Given the description of an element on the screen output the (x, y) to click on. 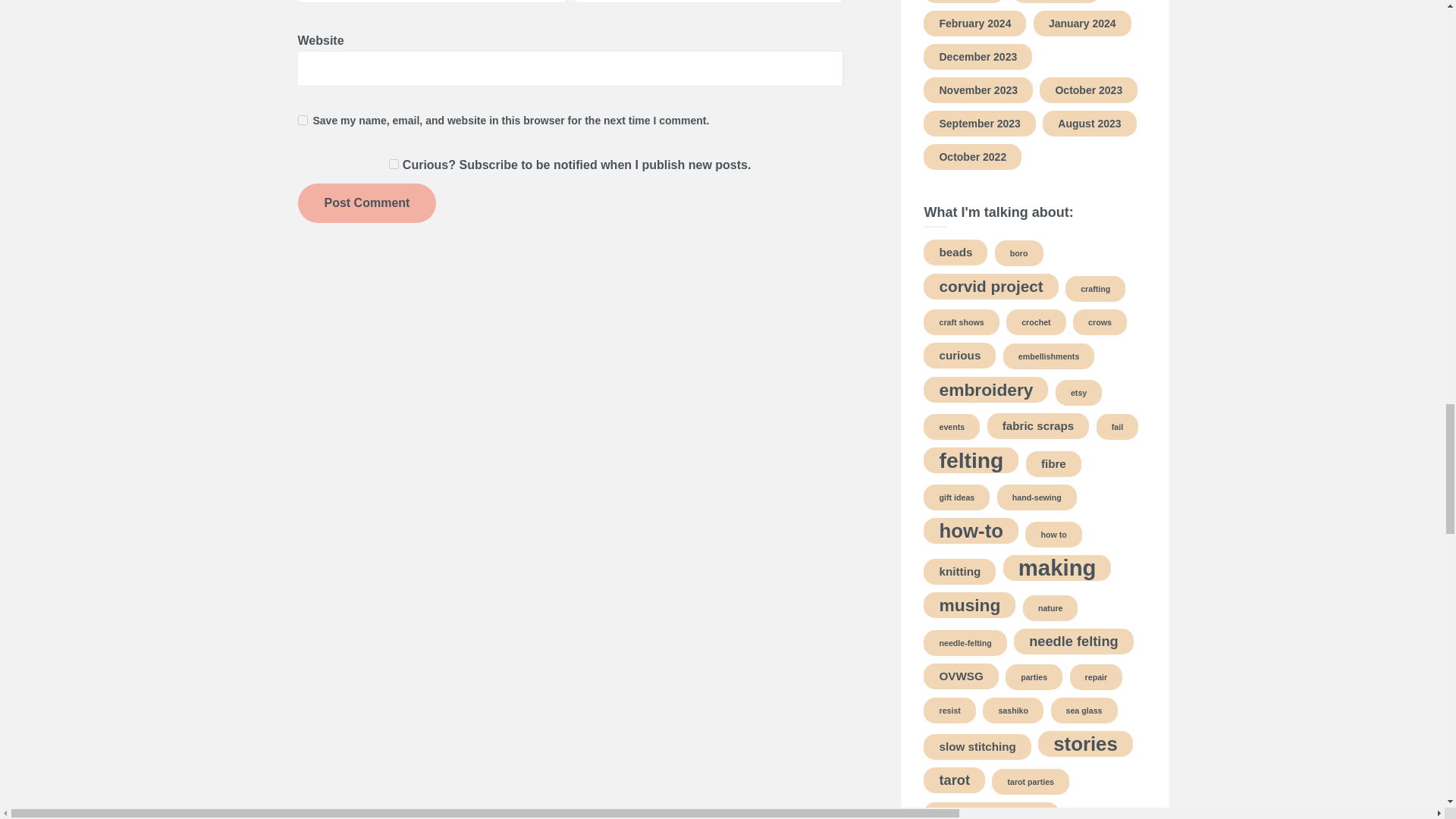
Post Comment (366, 202)
yes (302, 120)
Post Comment (366, 202)
1 (393, 163)
